Given the description of an element on the screen output the (x, y) to click on. 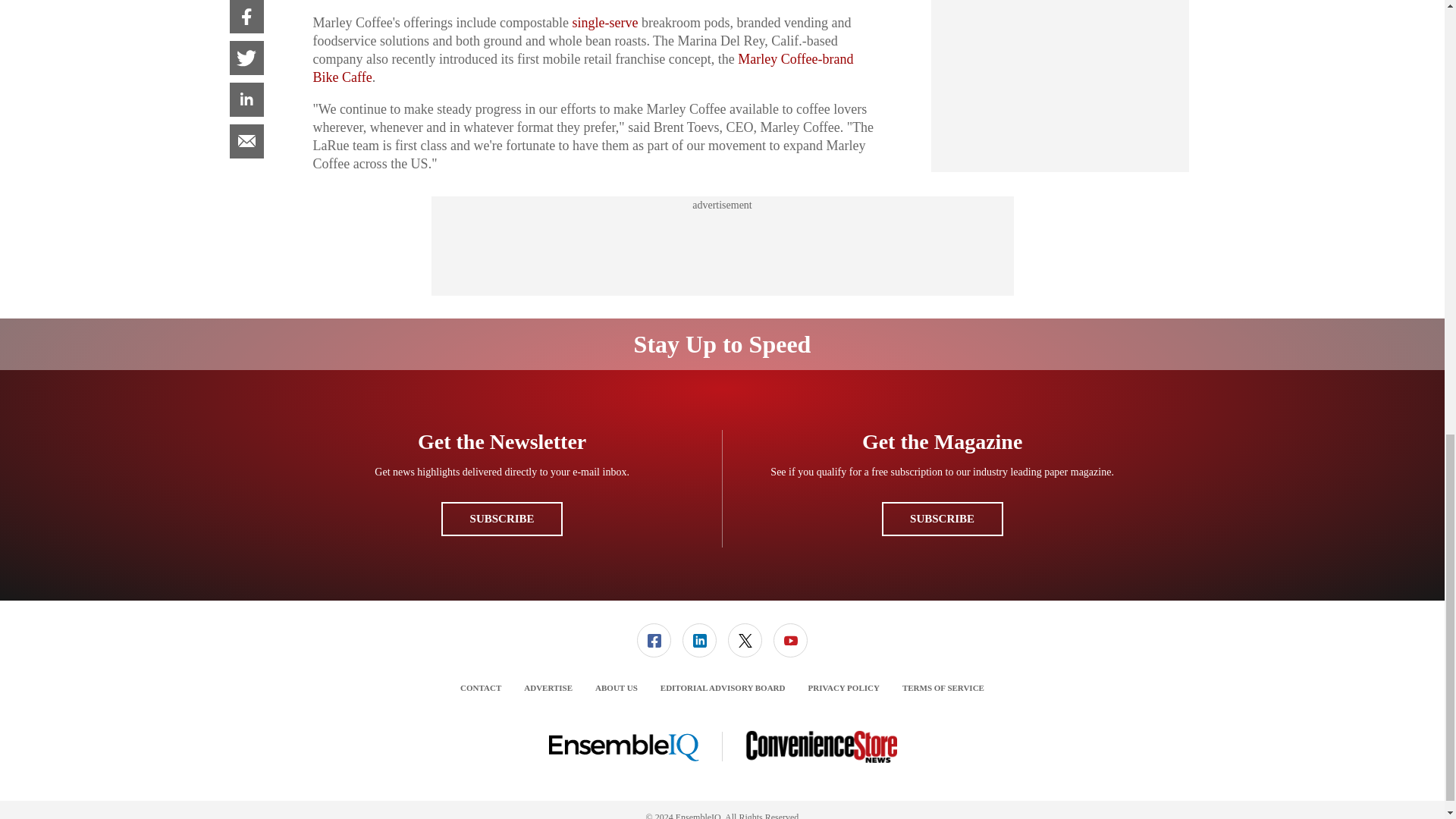
3rd party ad content (721, 246)
